Given the description of an element on the screen output the (x, y) to click on. 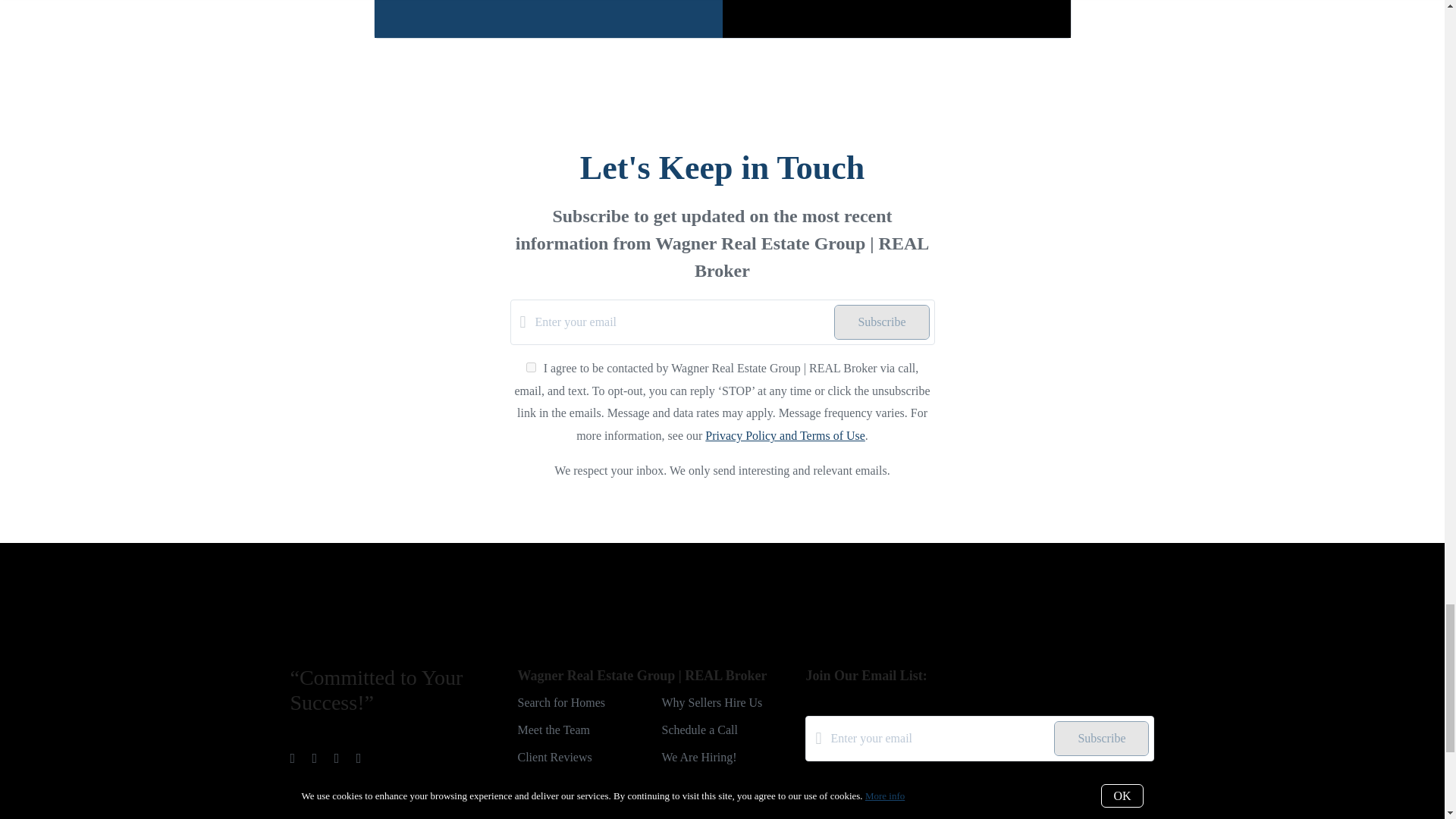
Subscribe (881, 321)
Meet the Team (552, 729)
Schedule a Call (698, 729)
on (810, 783)
on (530, 367)
Why Sellers Hire Us (711, 702)
Client Reviews (553, 757)
Get Your Home's Value (573, 784)
Privacy Policy and Terms of Use (784, 435)
Read Our Blog (553, 811)
